Given the description of an element on the screen output the (x, y) to click on. 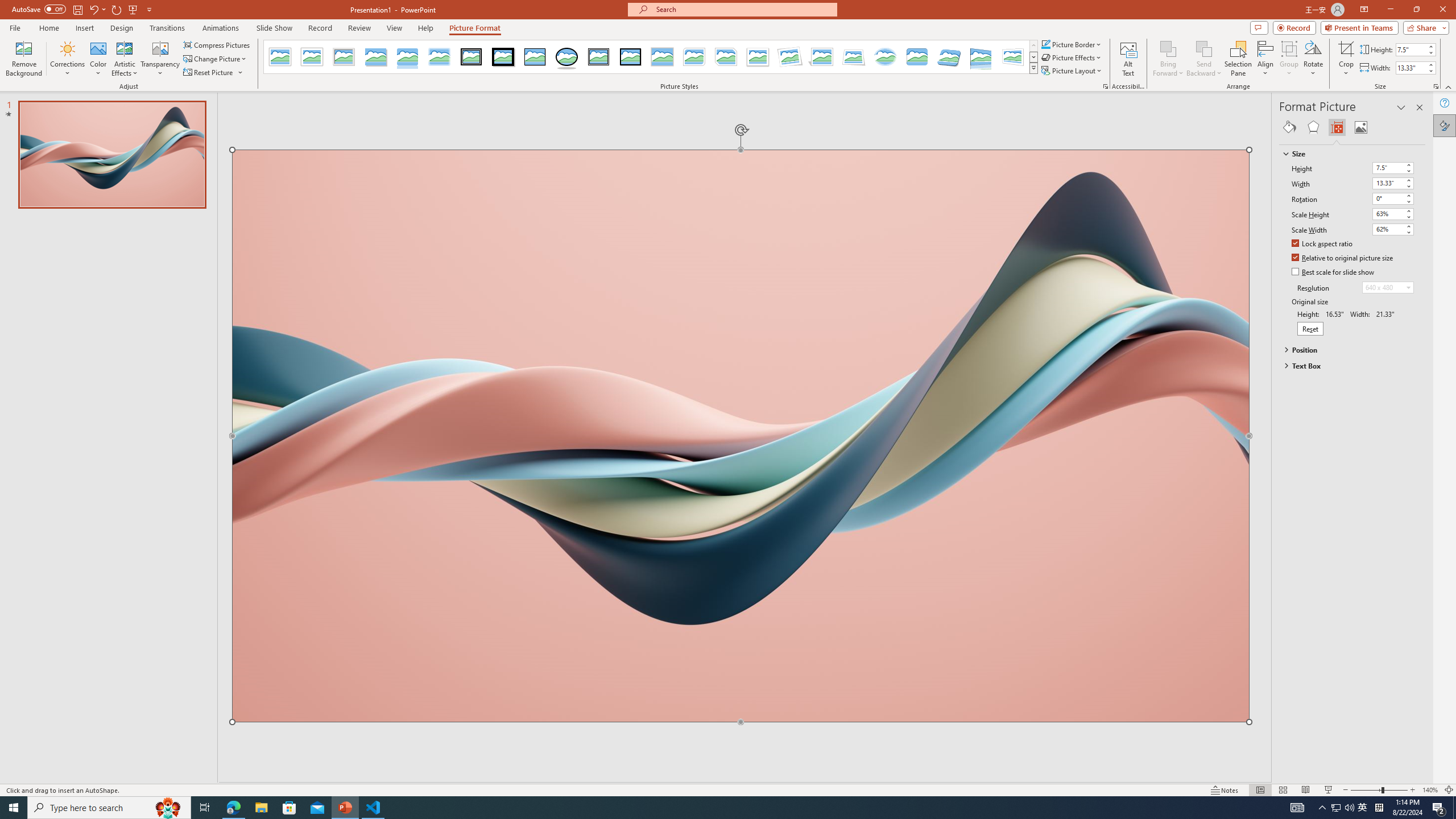
Beveled Matte, White (312, 56)
Center Shadow Rectangle (662, 56)
Simple Frame, White (280, 56)
Align (1264, 58)
Class: NetUIScrollBar (1420, 460)
Picture Format (475, 28)
Remove Background (23, 58)
Thick Matte, Black (503, 56)
Class: NetUIGalleryContainer (1352, 126)
Alt Text (1128, 58)
